Given the description of an element on the screen output the (x, y) to click on. 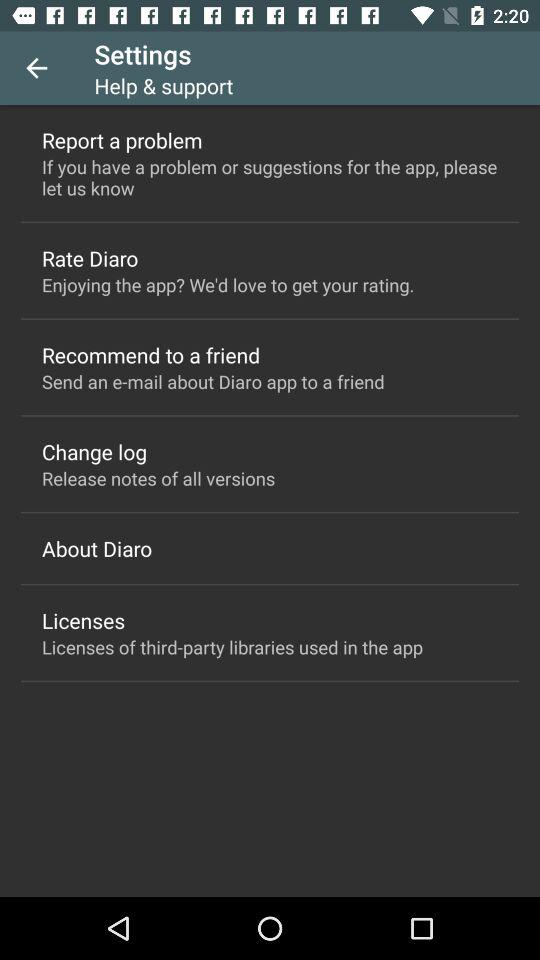
select the icon at the center (213, 381)
